Given the description of an element on the screen output the (x, y) to click on. 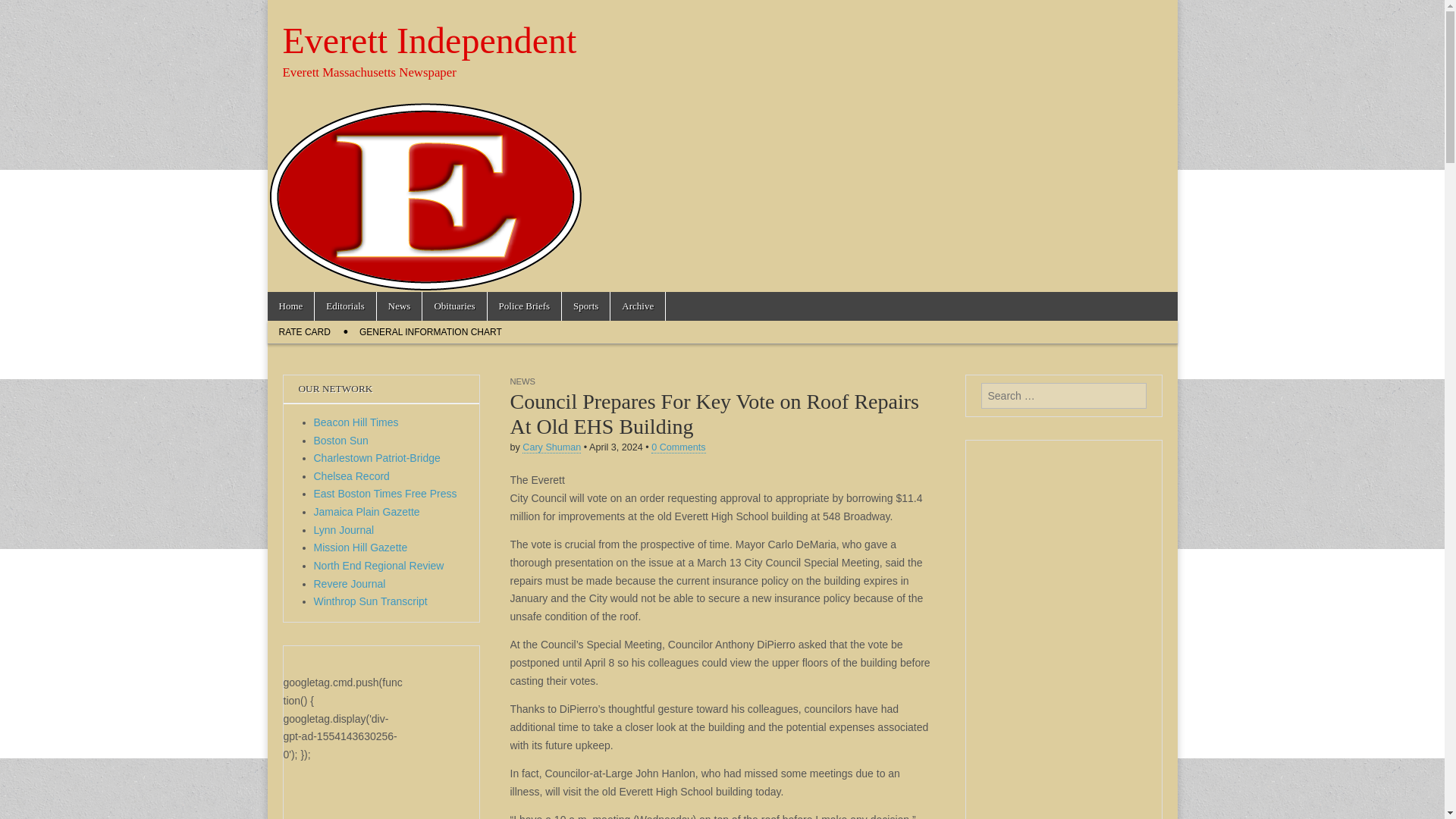
Posts by Cary Shuman (551, 447)
Chelsea Record (352, 476)
Archive (637, 306)
Obituaries (454, 306)
Boston Sun (341, 440)
0 Comments (677, 447)
Everett Independent (429, 40)
Editorials (344, 306)
GENERAL INFORMATION CHART (430, 332)
